Given the description of an element on the screen output the (x, y) to click on. 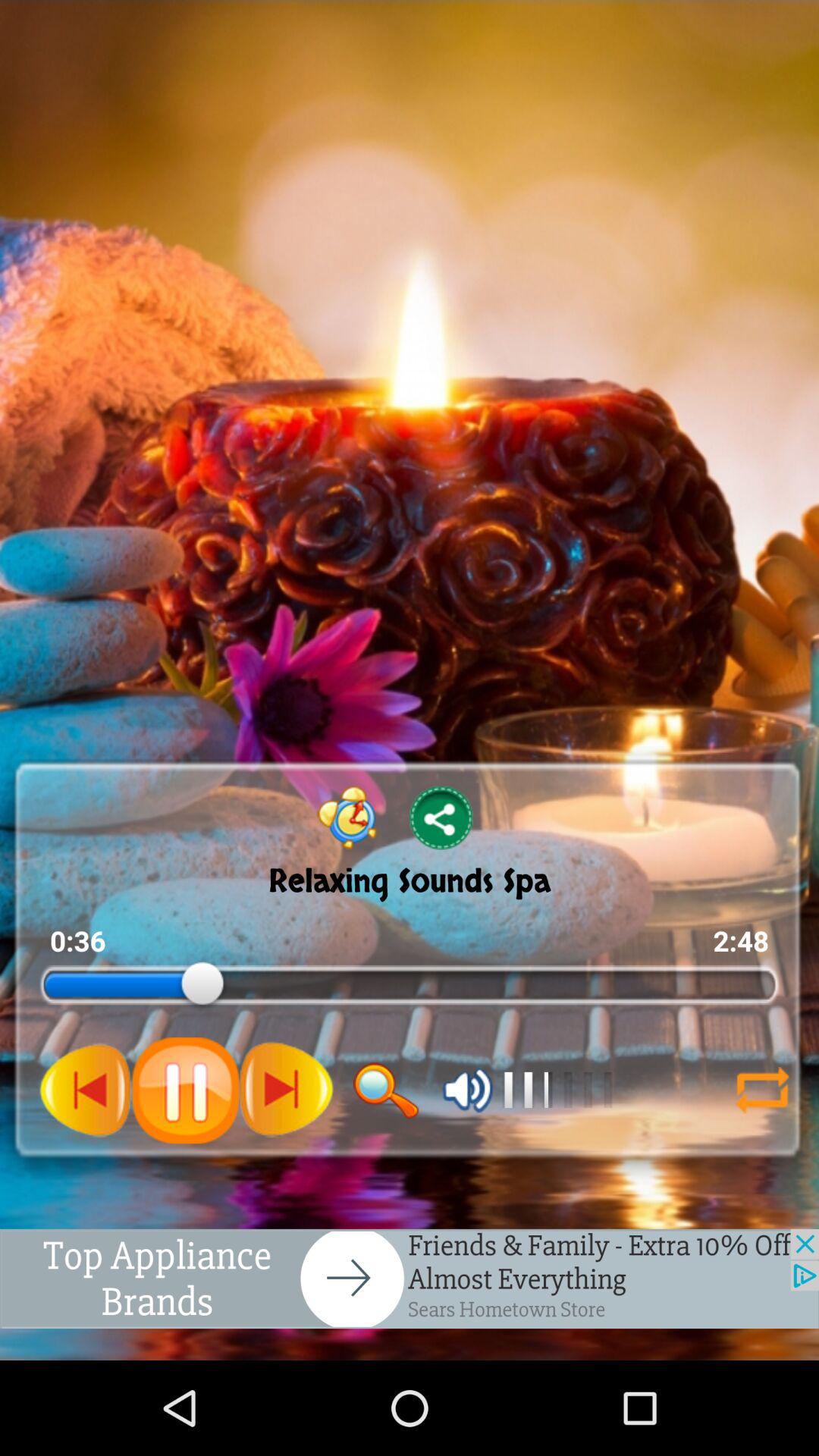
internet option (761, 1089)
